Given the description of an element on the screen output the (x, y) to click on. 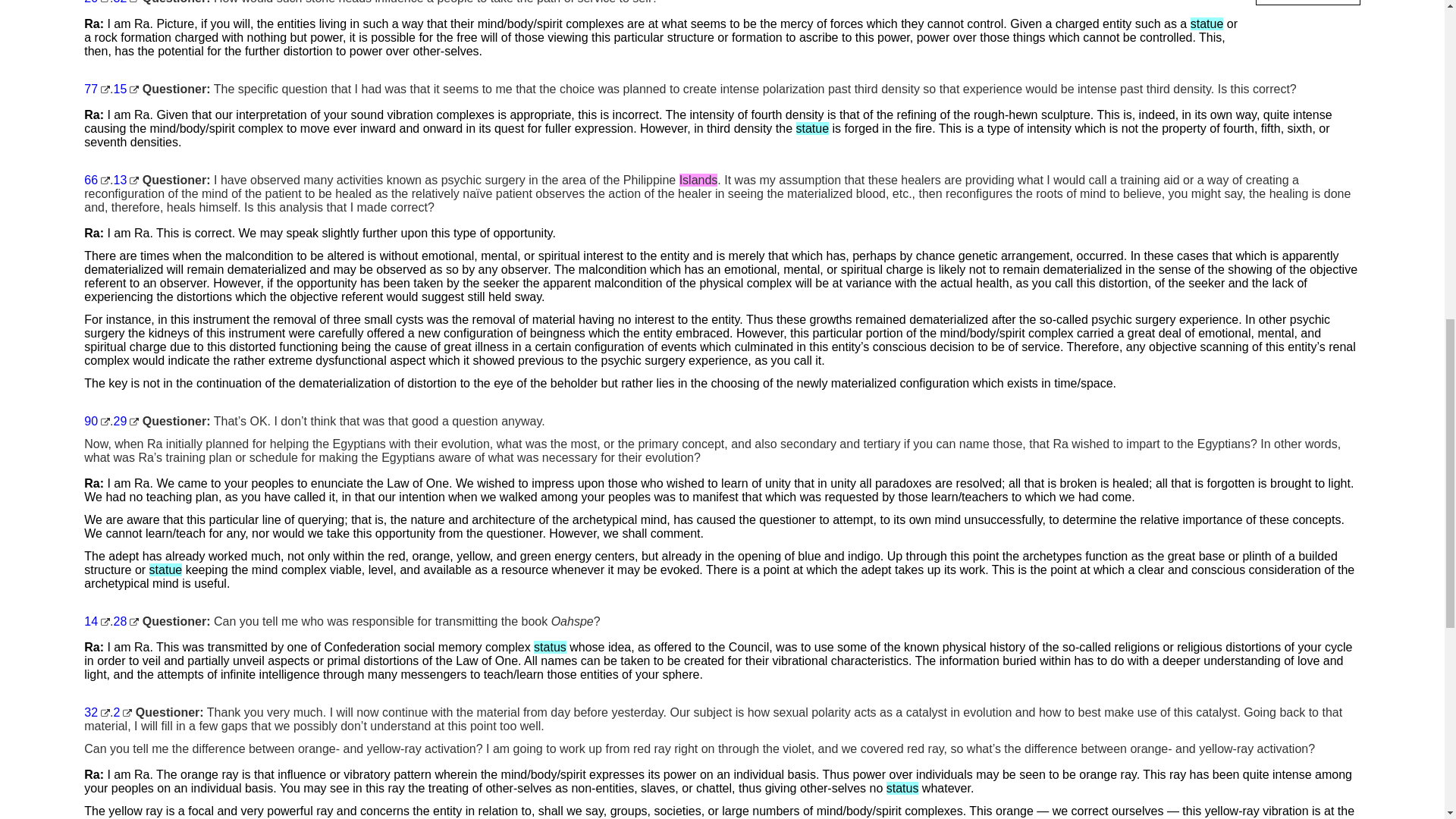
32 (126, 2)
15 (126, 88)
13 (126, 179)
66 (97, 179)
20 (97, 2)
90 (97, 420)
77 (97, 88)
